Given the description of an element on the screen output the (x, y) to click on. 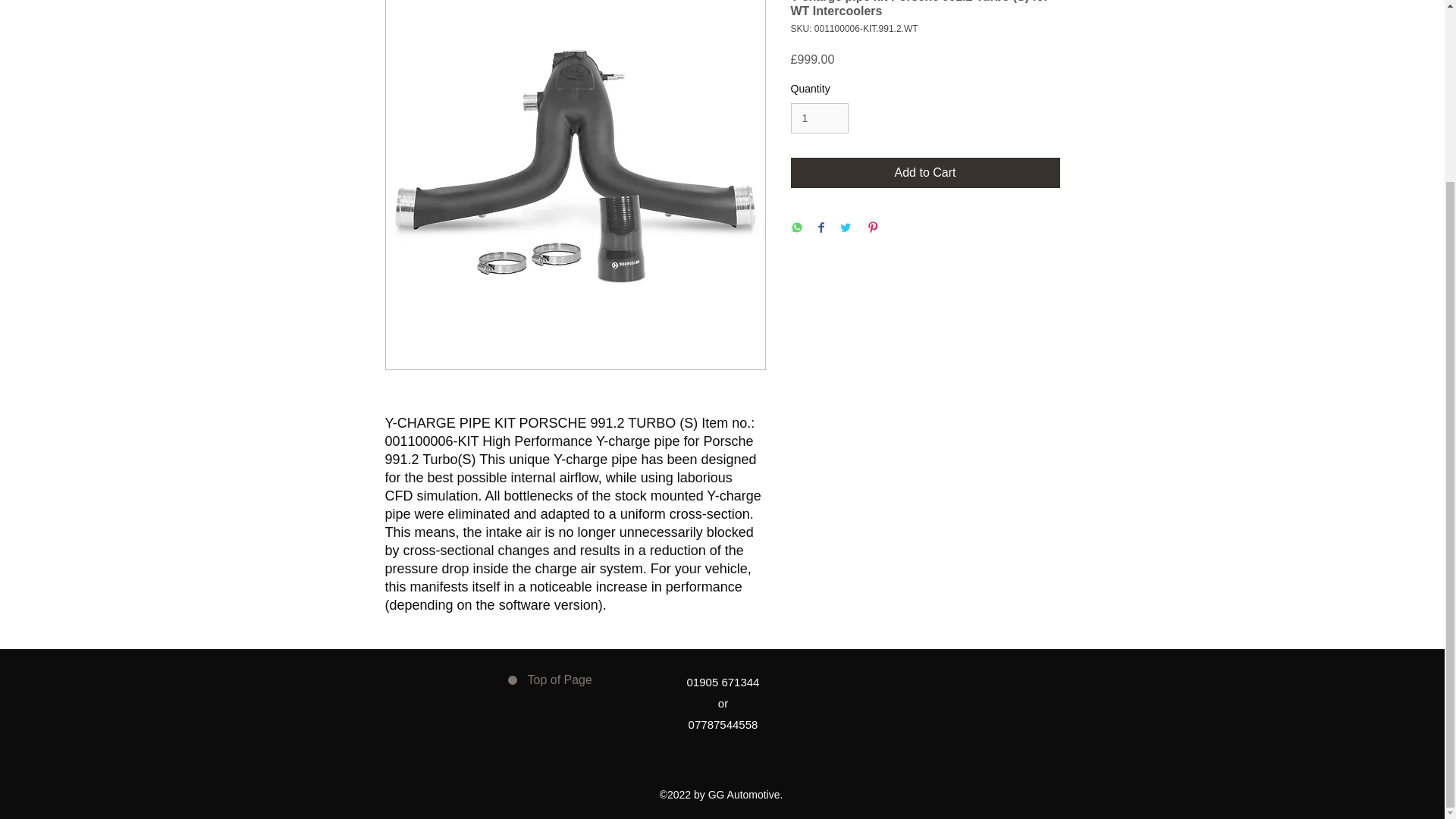
1 (818, 118)
Top of Page (551, 679)
Add to Cart (924, 173)
